Given the description of an element on the screen output the (x, y) to click on. 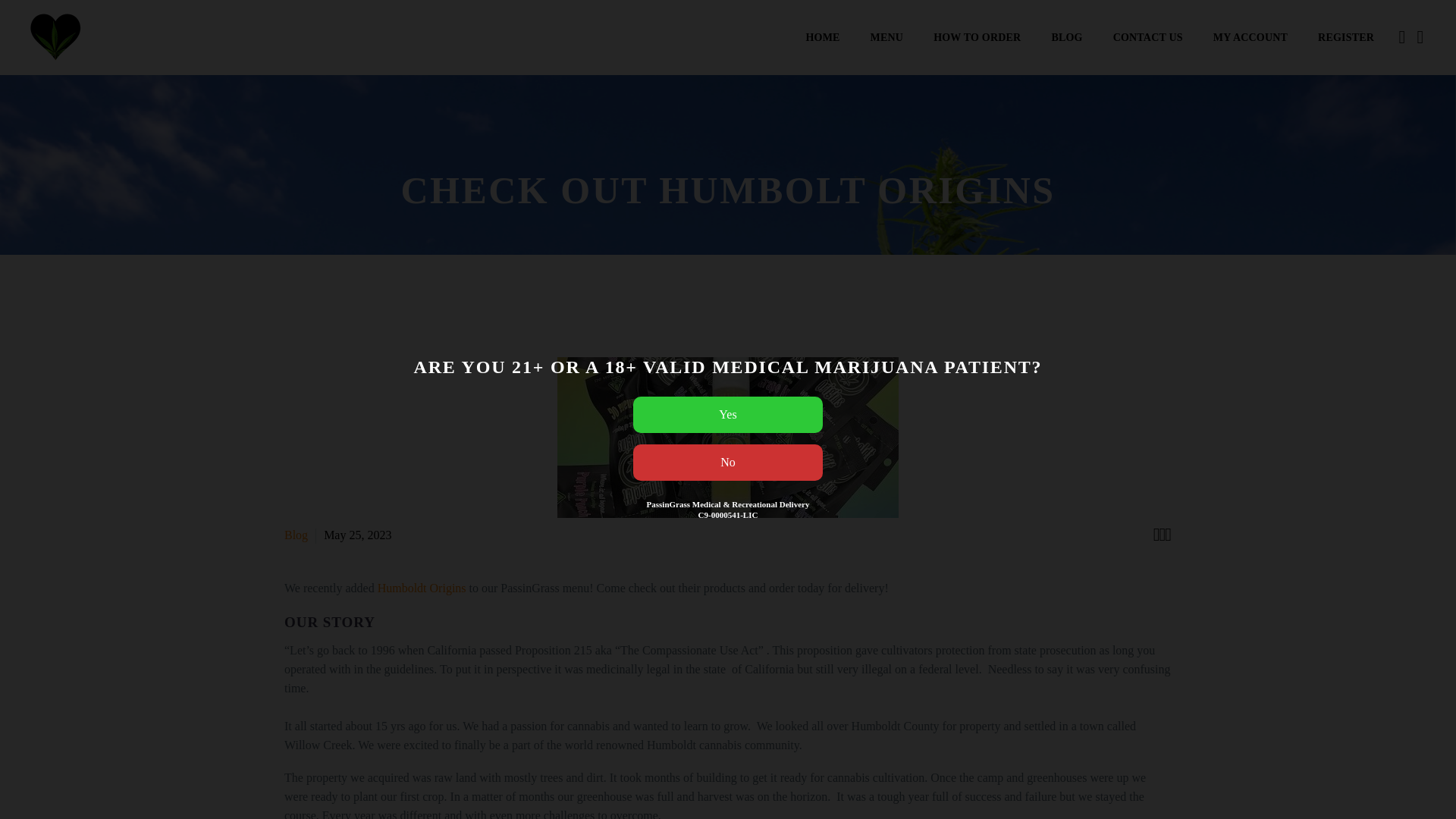
Yes (727, 414)
View all posts in Blog (295, 534)
CONTACT US (1147, 37)
Blog (295, 534)
REGISTER (1346, 37)
HOW TO ORDER (976, 37)
No (727, 462)
Humboldt Origins (421, 587)
MY ACCOUNT (1250, 37)
